Given the description of an element on the screen output the (x, y) to click on. 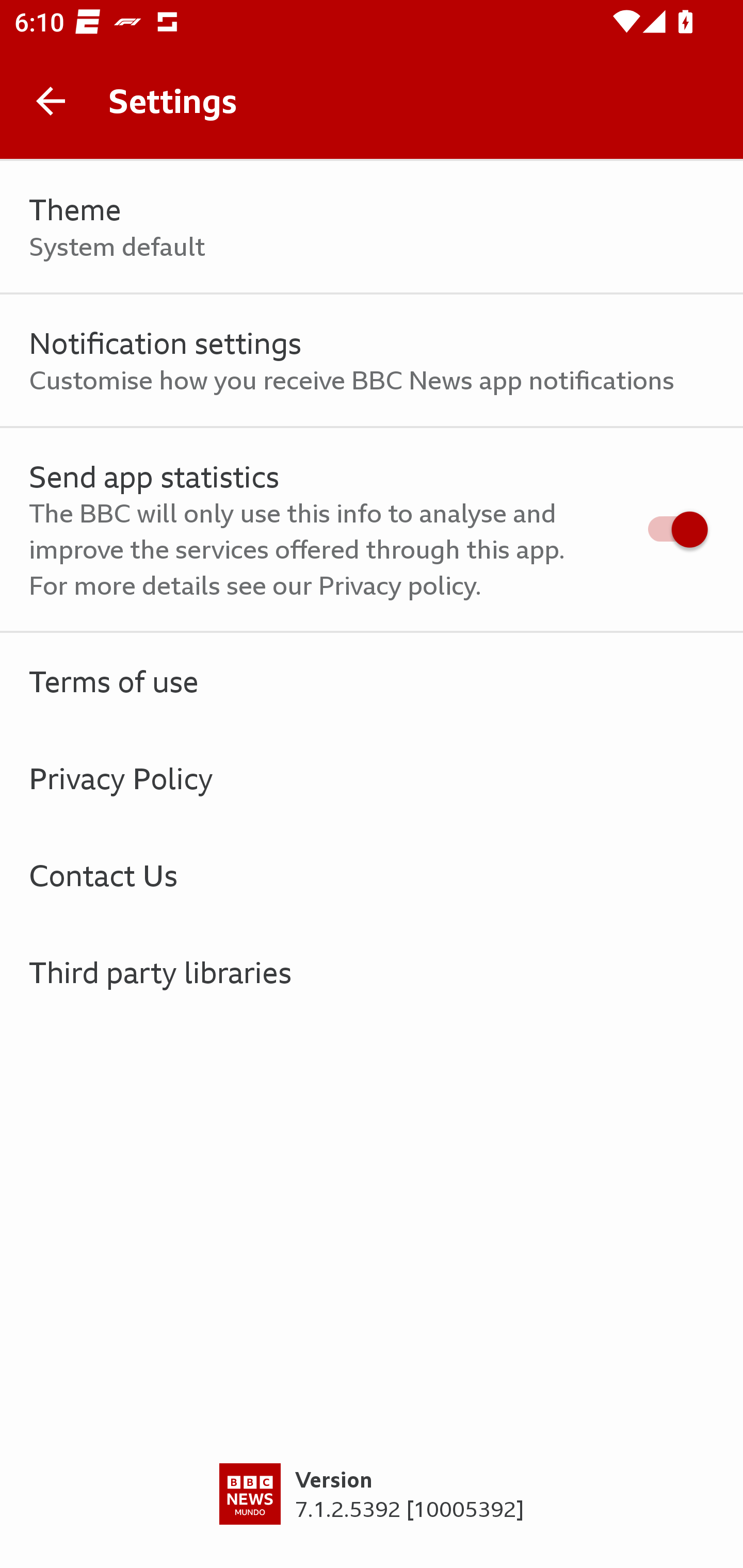
Back (50, 101)
Theme System default (371, 227)
Terms of use (371, 681)
Privacy Policy (371, 777)
Contact Us (371, 874)
Third party libraries (371, 971)
Version 7.1.2.5392 [10005392] (371, 1515)
